Given the description of an element on the screen output the (x, y) to click on. 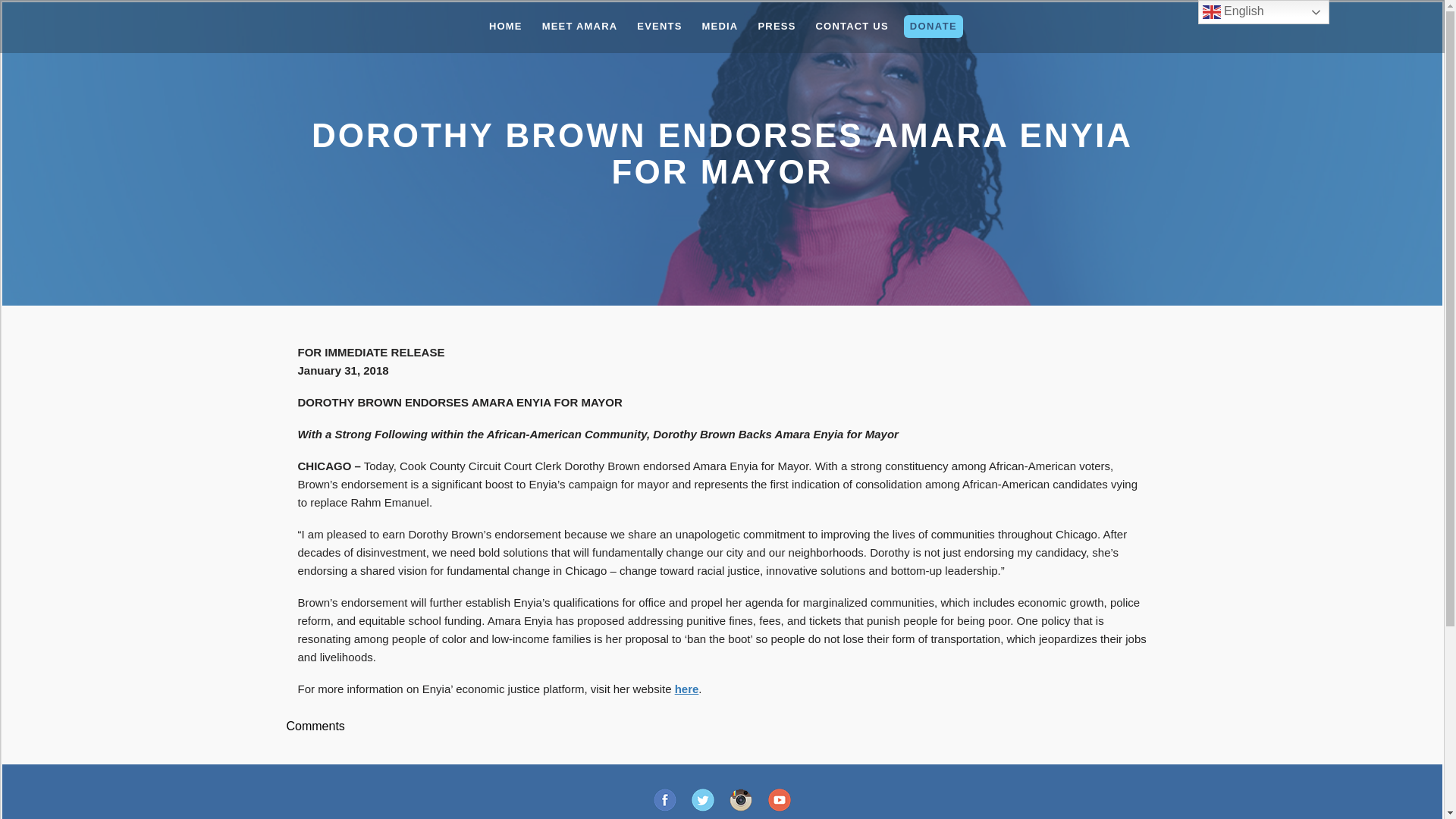
here (686, 688)
HOME (505, 25)
EVENTS (658, 25)
MEDIA (719, 25)
PRESS (776, 25)
DONATE (933, 26)
English (1263, 12)
MEET AMARA (580, 25)
CONTACT US (852, 25)
